Given the description of an element on the screen output the (x, y) to click on. 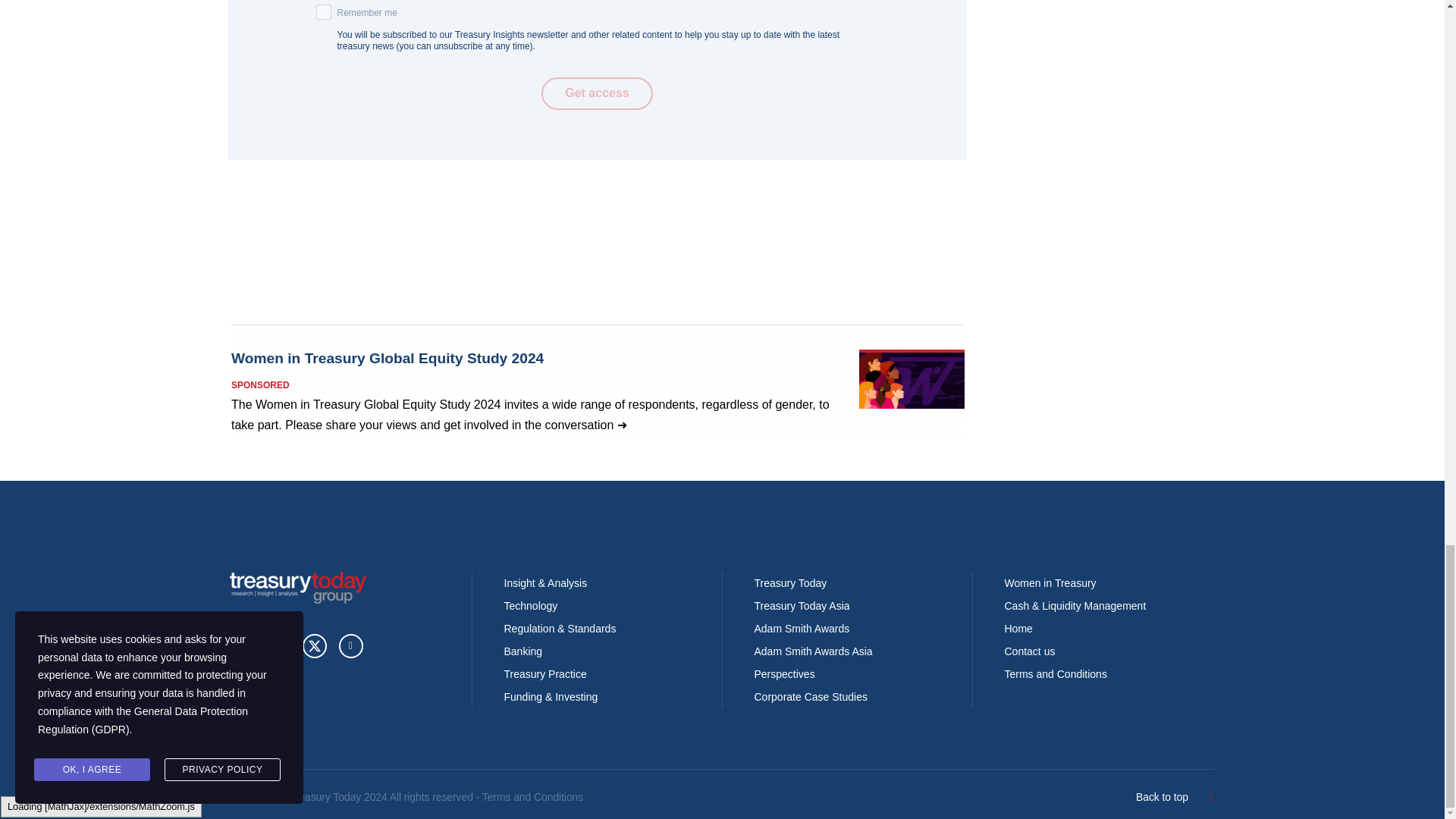
on (322, 11)
3rd party ad content (596, 381)
